Given the description of an element on the screen output the (x, y) to click on. 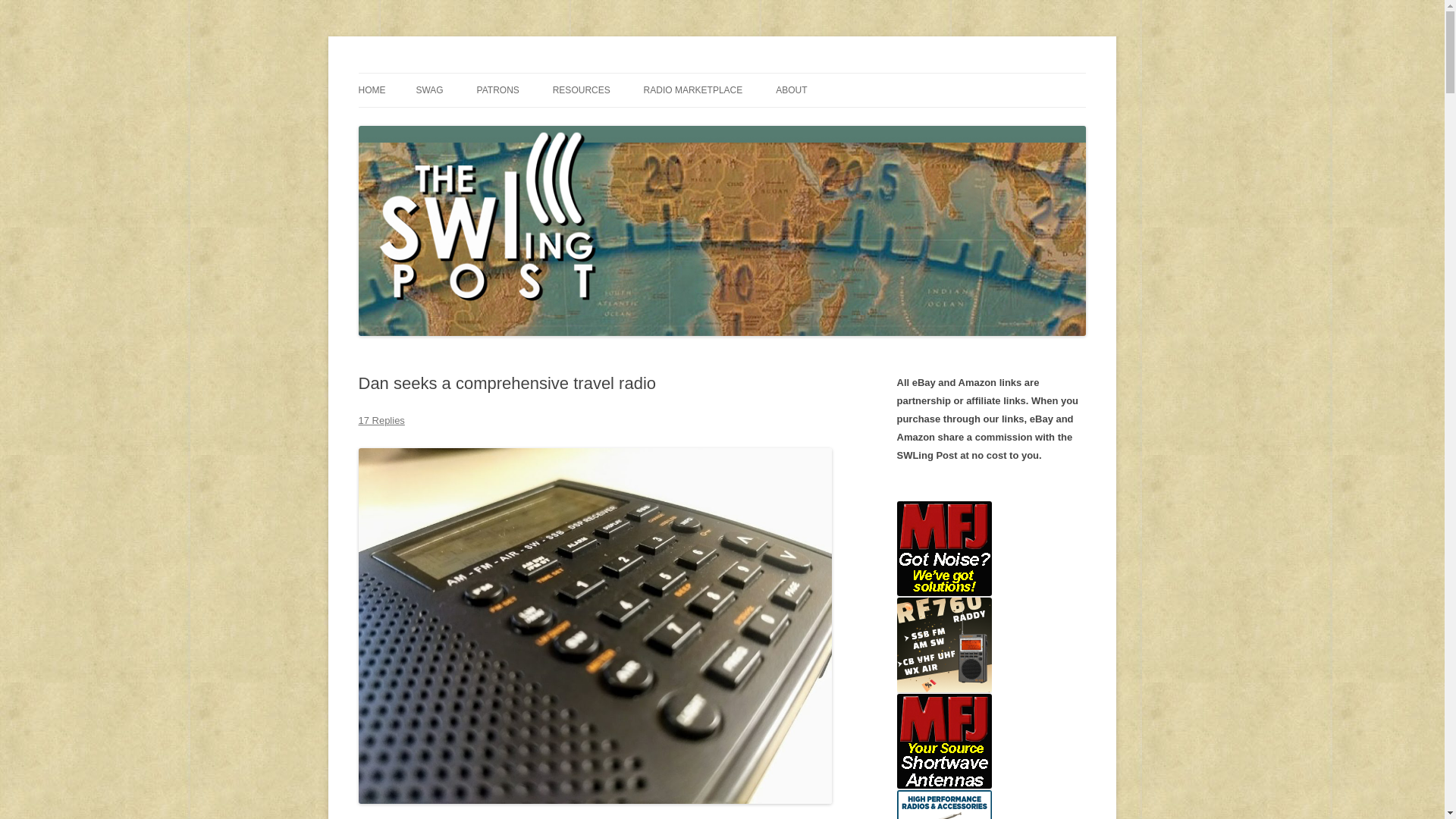
OUR SPONSORS (552, 122)
The SWLing Post (438, 72)
ABOUT (791, 90)
PATRONS (498, 90)
LIST OF QRP GENERAL COVERAGE AMATEUR RADIO TRANSCEIVERS (718, 140)
17 Replies (381, 419)
RADIO MARKETPLACE (692, 90)
RESOURCES (581, 90)
